Given the description of an element on the screen output the (x, y) to click on. 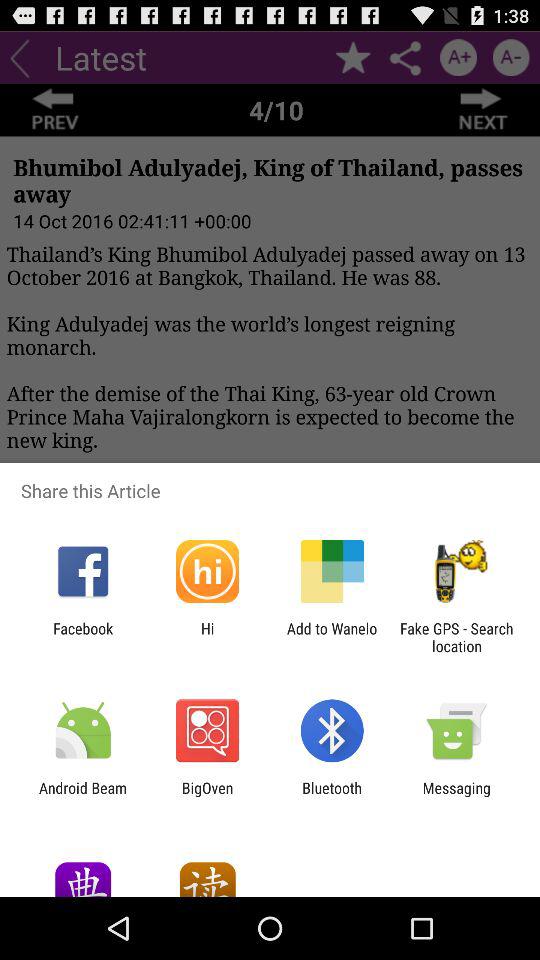
tap the app next to bluetooth (456, 796)
